Given the description of an element on the screen output the (x, y) to click on. 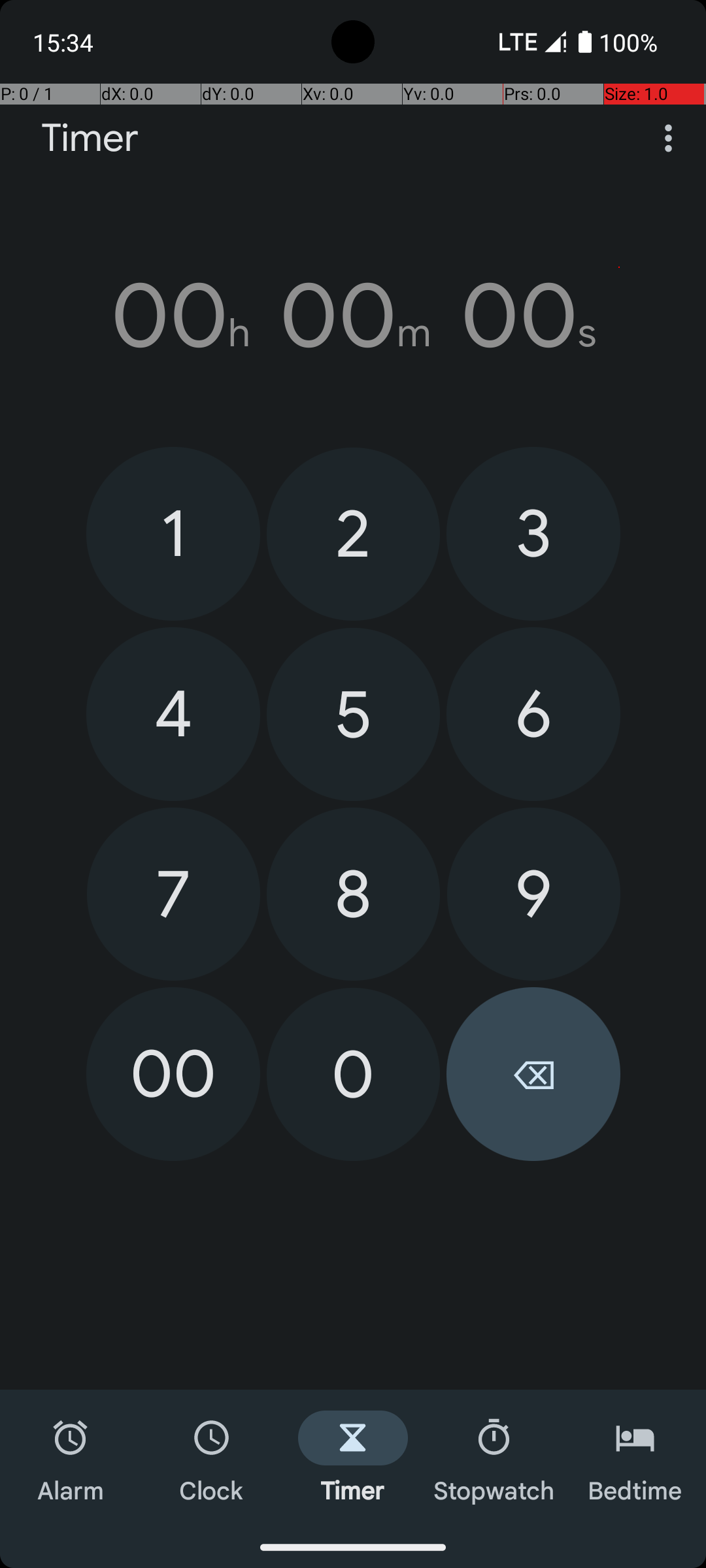
00h 00m 00s Element type: android.widget.TextView (353, 315)
